Given the description of an element on the screen output the (x, y) to click on. 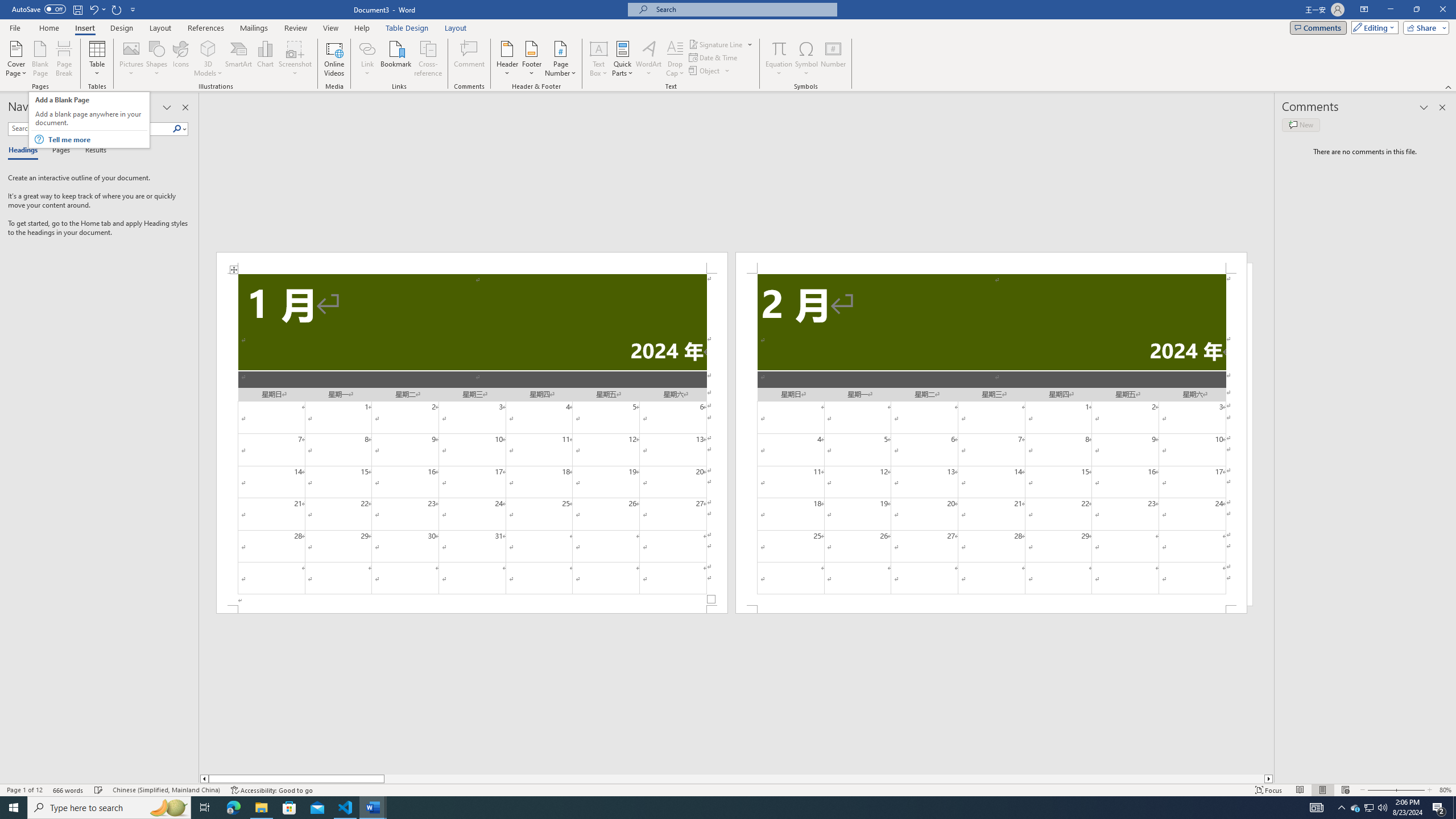
Undo Increase Indent (92, 9)
Table (97, 58)
Quick Parts (622, 58)
Spelling and Grammar Check Checking (98, 790)
Footer (531, 58)
Column left (203, 778)
3D Models (208, 58)
Language Chinese (Simplified, Mainland China) (165, 790)
Equation (778, 58)
